Given the description of an element on the screen output the (x, y) to click on. 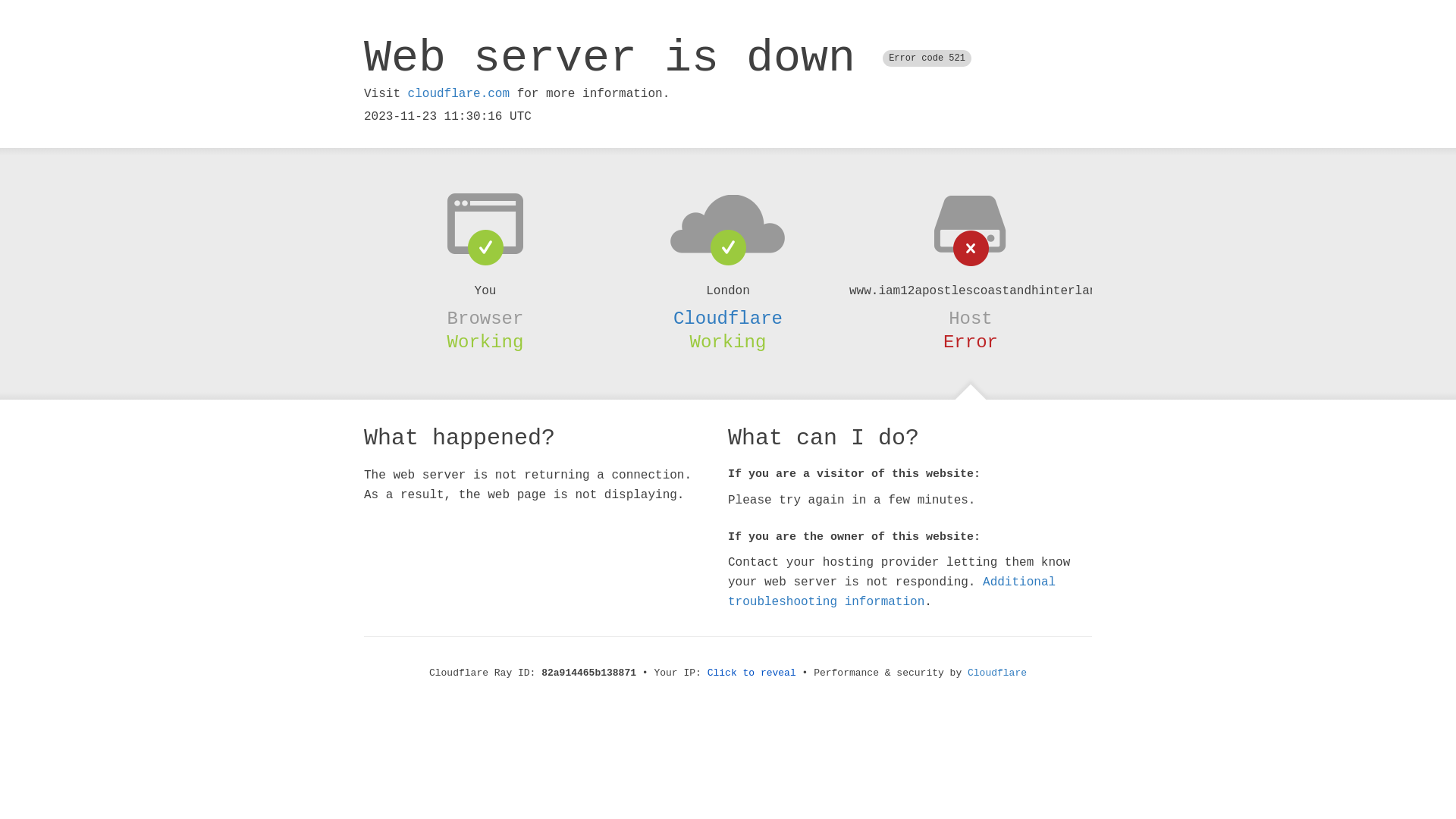
cloudflare.com Element type: text (458, 93)
Cloudflare Element type: text (727, 318)
Additional troubleshooting information Element type: text (891, 591)
Click to reveal Element type: text (751, 672)
Cloudflare Element type: text (996, 672)
